Given the description of an element on the screen output the (x, y) to click on. 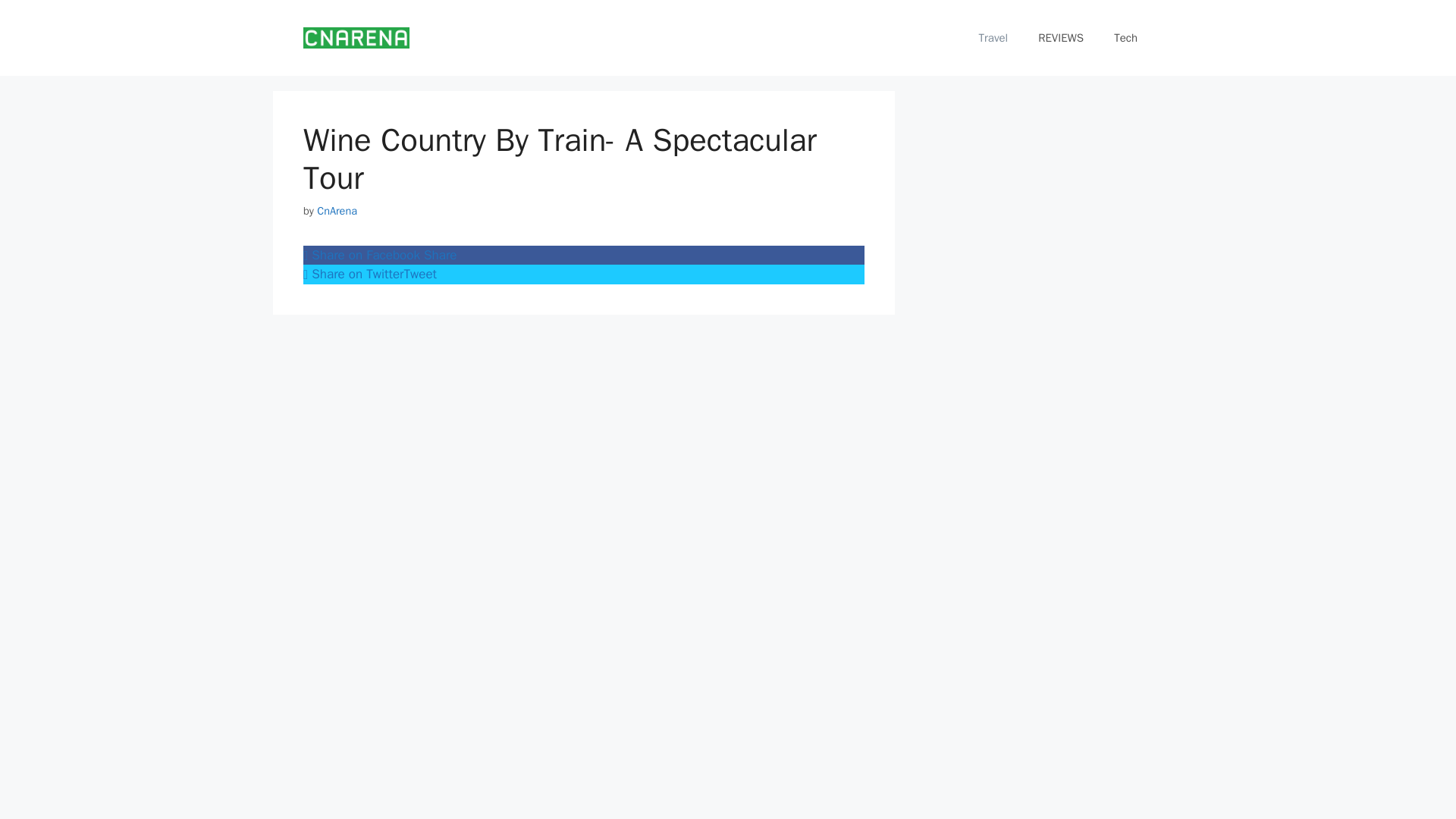
CnArena (336, 210)
CNARENA (355, 36)
CNARENA (355, 37)
Share on Facebook (583, 255)
Tech (1126, 37)
Share on Twitter (583, 274)
View all posts by CnArena (336, 210)
Travel (993, 37)
REVIEWS (1061, 37)
Share on TwitterTweet (583, 274)
Share on Facebook Share (583, 255)
